Given the description of an element on the screen output the (x, y) to click on. 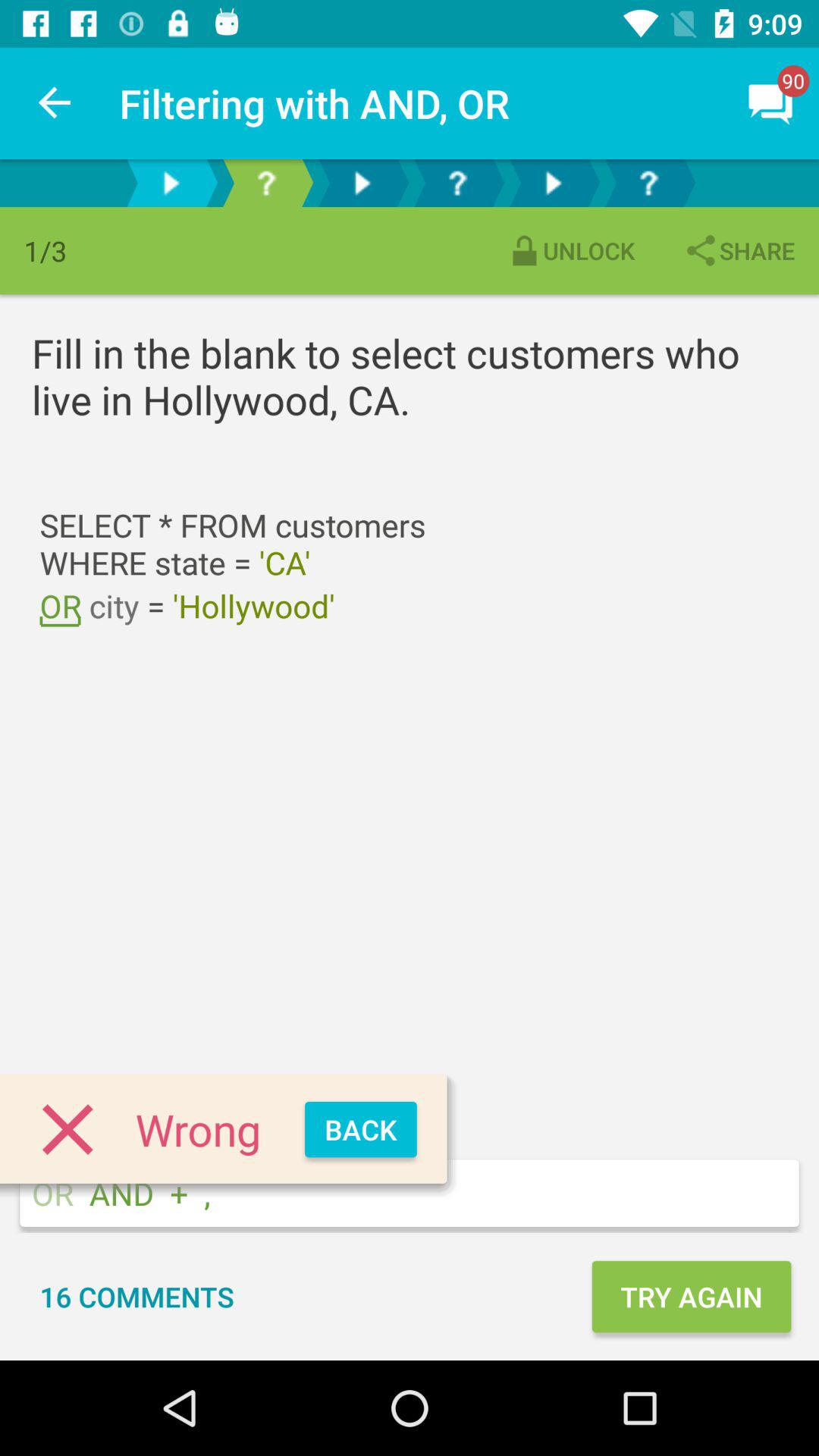
click the item to the right of the wrong icon (360, 1129)
